Given the description of an element on the screen output the (x, y) to click on. 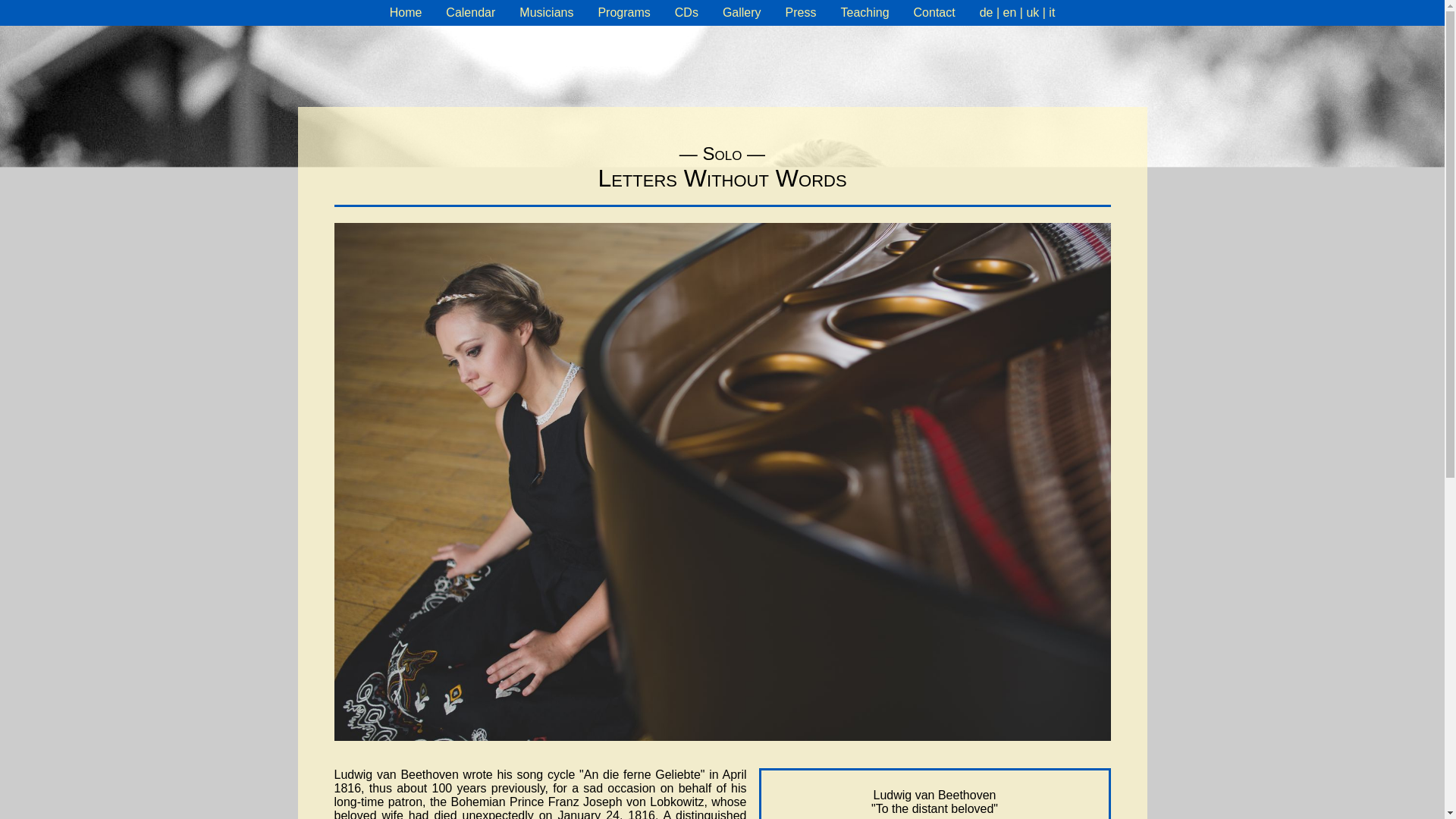
Programs (622, 11)
de (985, 11)
Musicians (546, 11)
Gallery (741, 11)
Press (801, 11)
CDs (686, 11)
en (1009, 11)
Solo (722, 153)
Teaching (864, 11)
Calendar (470, 11)
